Given the description of an element on the screen output the (x, y) to click on. 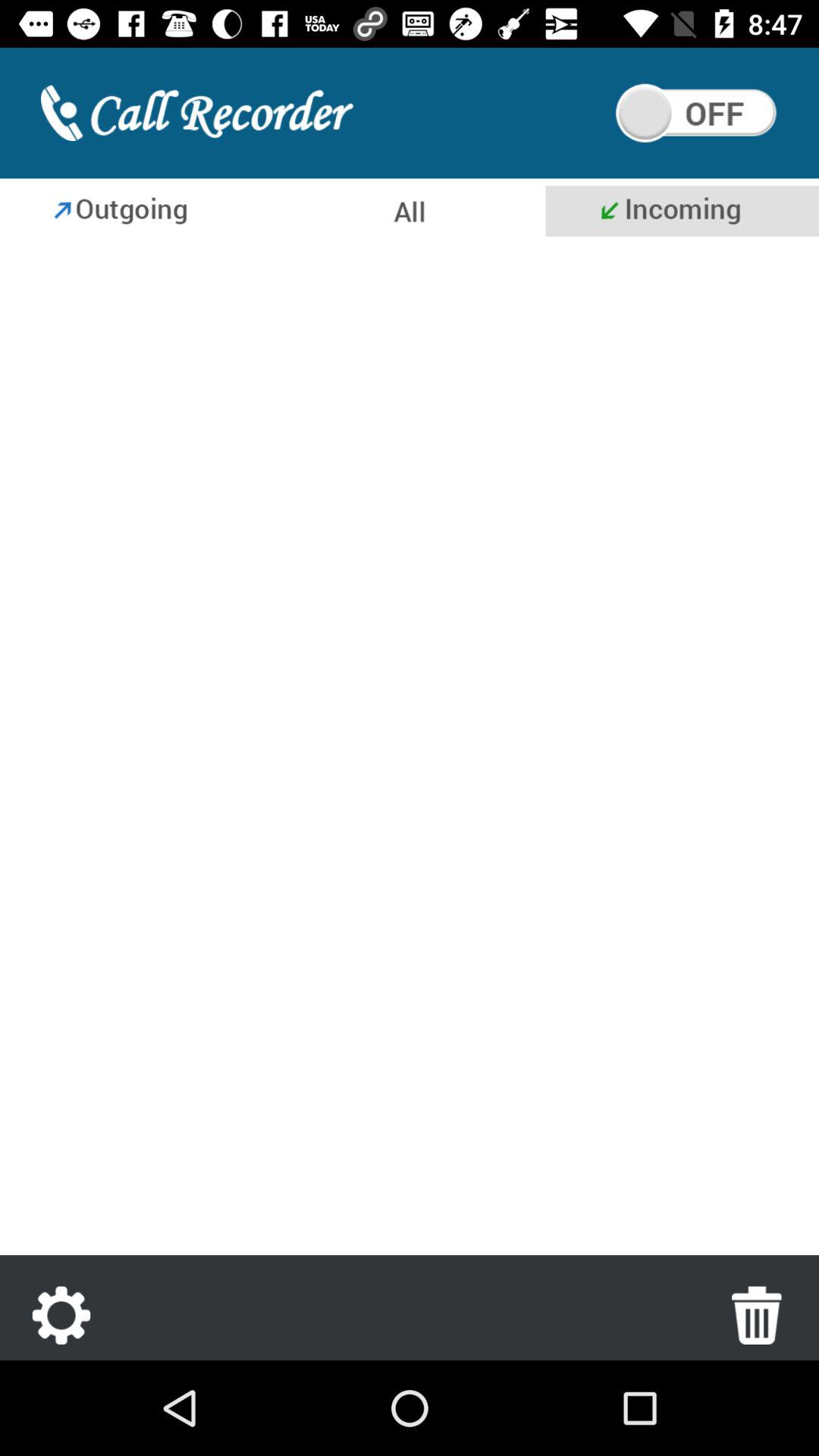
show all (408, 210)
